Given the description of an element on the screen output the (x, y) to click on. 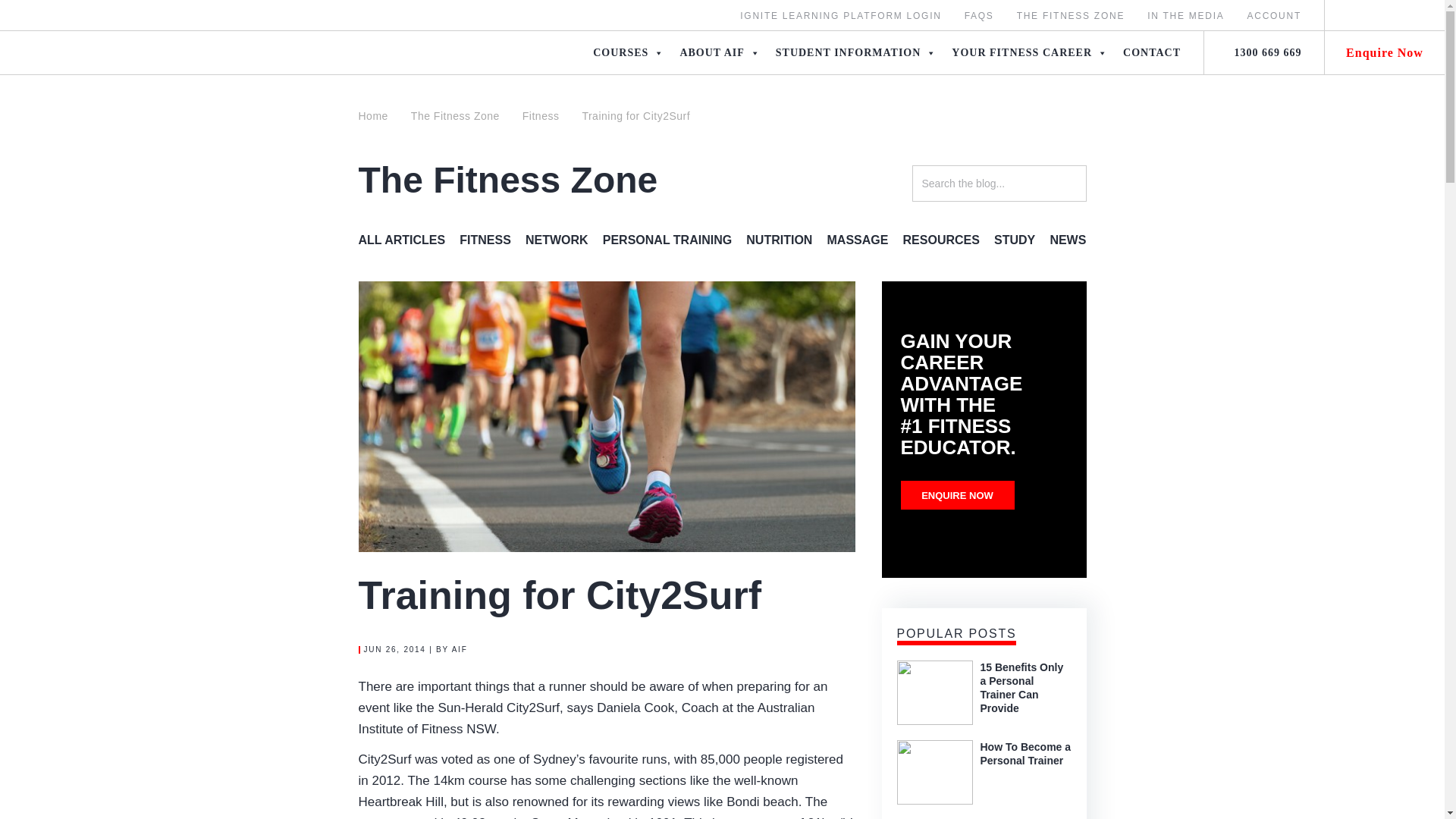
Go to the Fitness category archives. (540, 115)
FAQS (978, 15)
Enquire Now (1384, 52)
Go to Australian Institute of Fitness. (378, 115)
COURSES (628, 52)
IGNITE LEARNING PLATFORM LOGIN (839, 15)
ACCOUNT (1273, 15)
YOUR FITNESS CAREER (1029, 52)
ABOUT AIF (719, 52)
IN THE MEDIA (1185, 15)
